Given the description of an element on the screen output the (x, y) to click on. 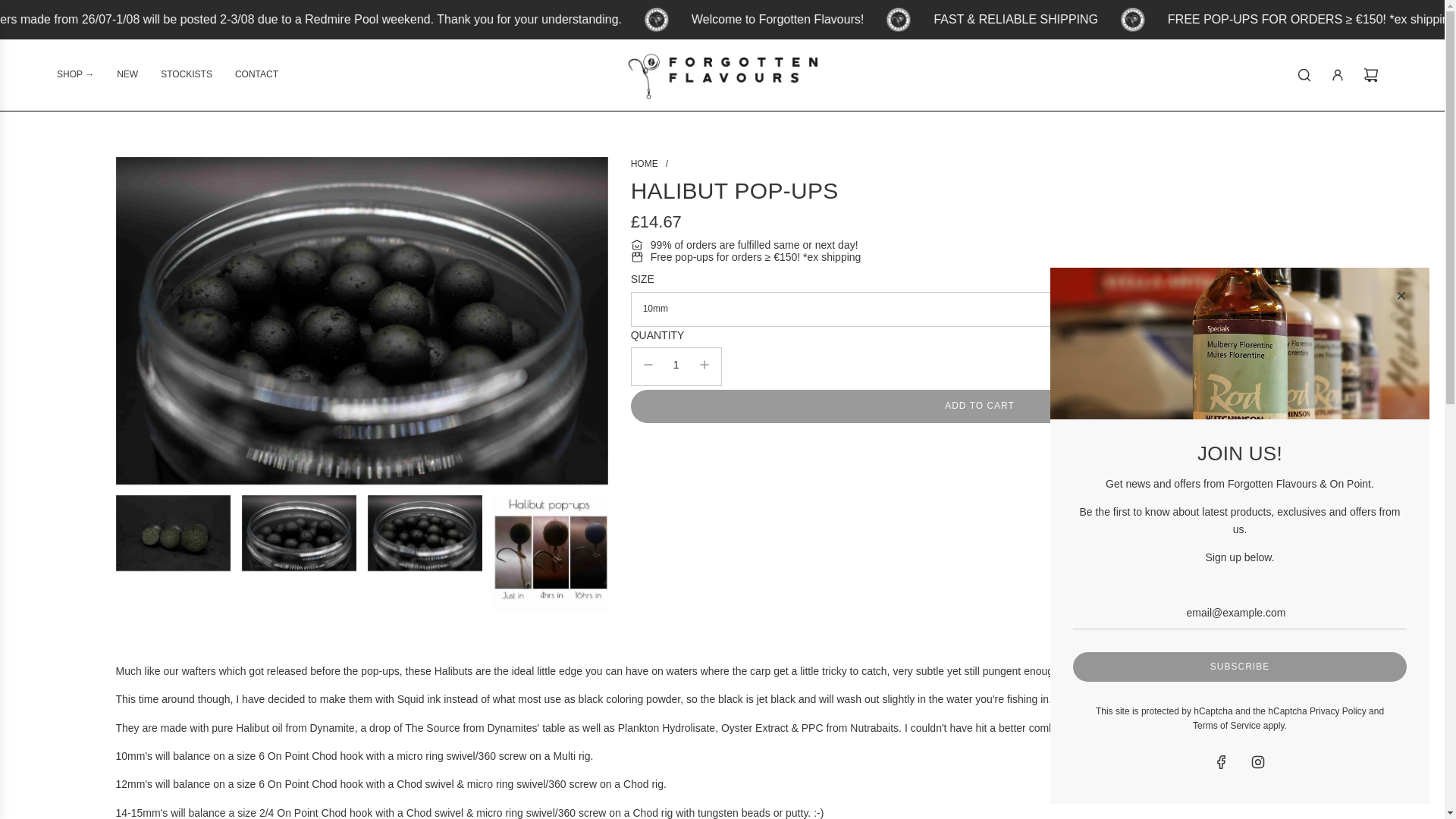
Back to the frontpage (644, 163)
1 (676, 364)
